Given the description of an element on the screen output the (x, y) to click on. 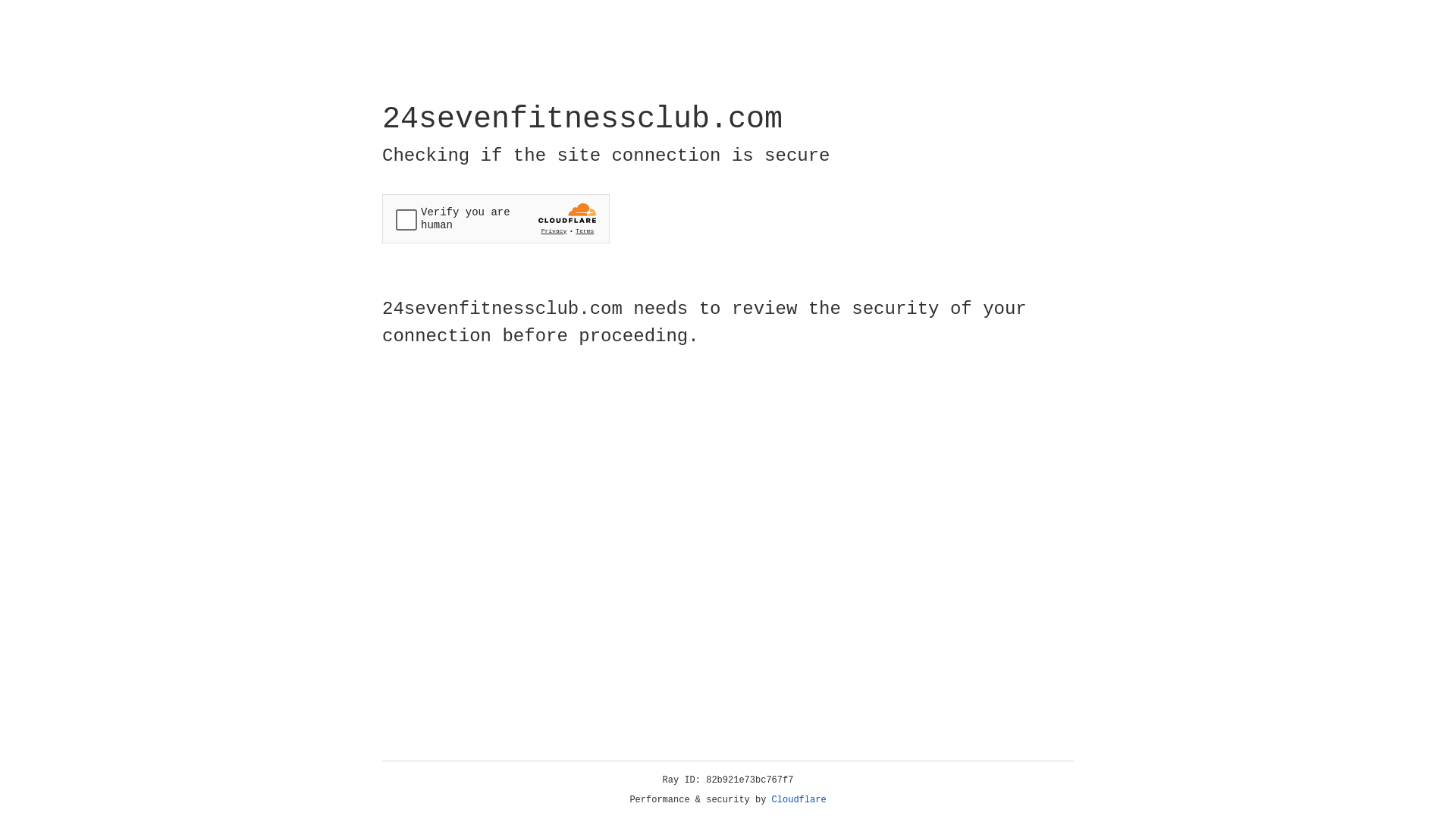
Widget containing a Cloudflare security challenge Element type: hover (495, 218)
Cloudflare Element type: text (798, 799)
